Given the description of an element on the screen output the (x, y) to click on. 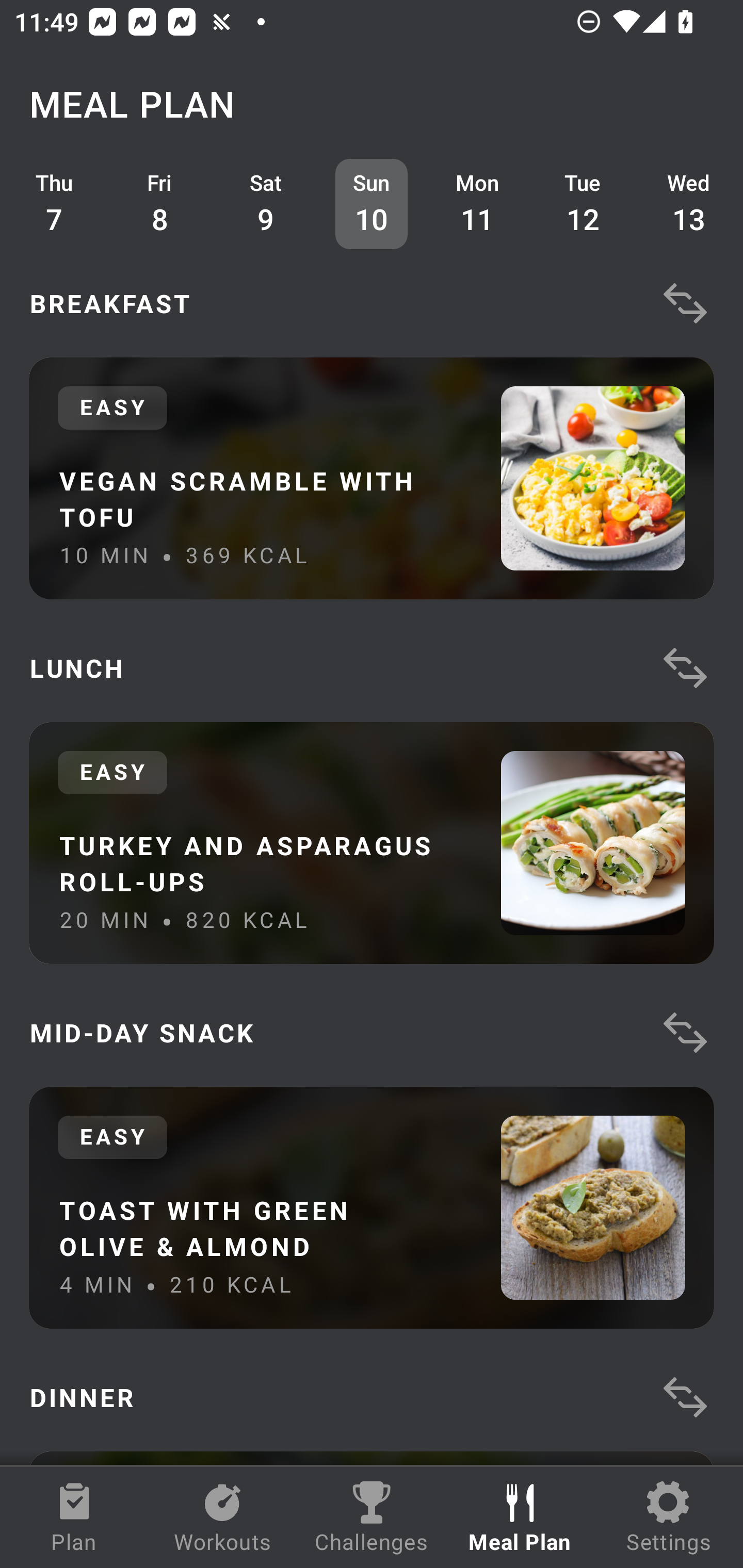
Thu 7 (53, 203)
Fri 8 (159, 203)
Sat 9 (265, 203)
Sun 10 (371, 203)
Mon 11 (477, 203)
Tue 12 (583, 203)
Wed 13 (689, 203)
EASY VEGAN SCRAMBLE WITH TOFU 10 MIN • 369 KCAL (371, 477)
 Plan  (74, 1517)
 Workouts  (222, 1517)
 Challenges  (371, 1517)
 Settings  (668, 1517)
